Given the description of an element on the screen output the (x, y) to click on. 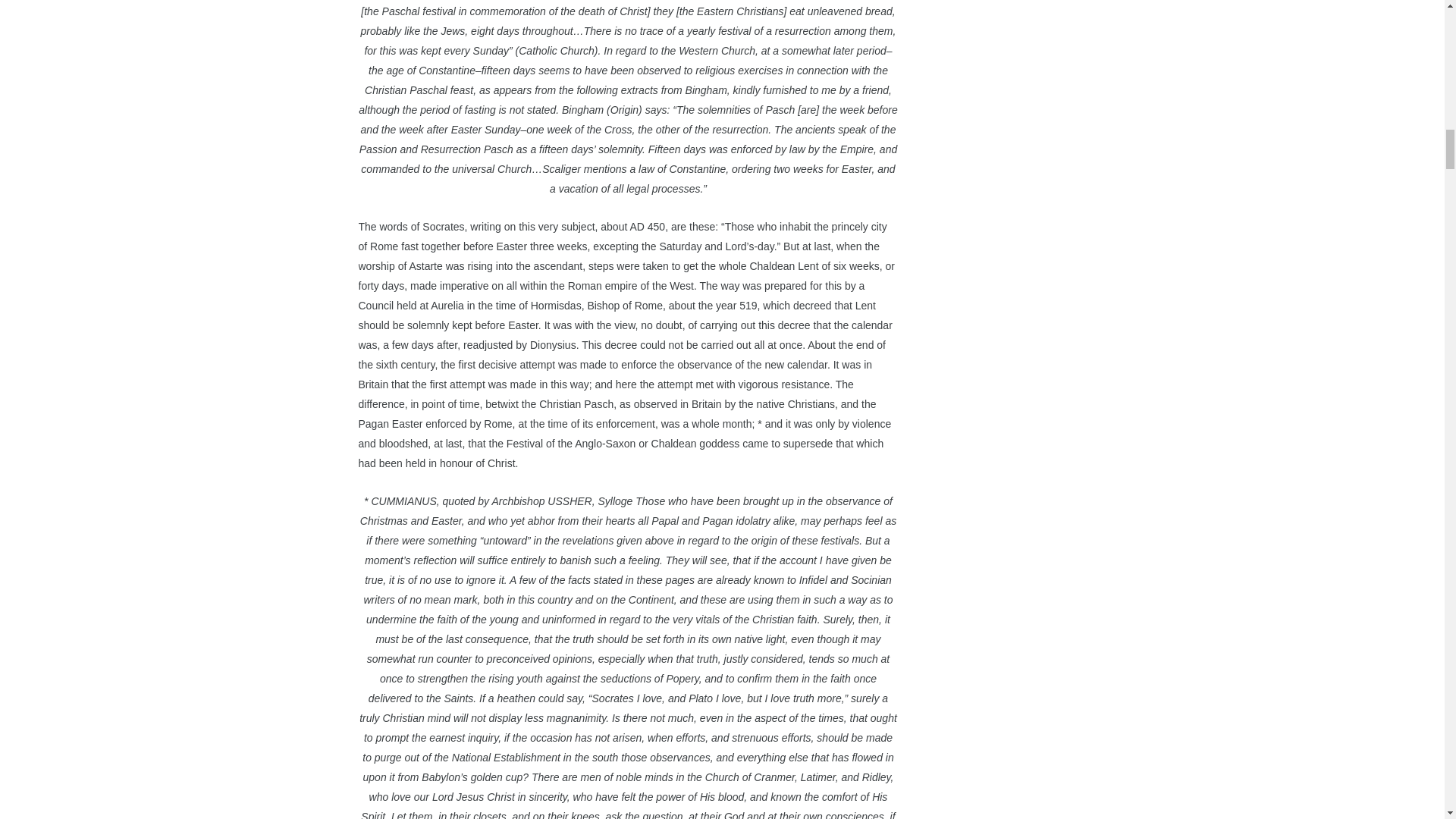
Page 94 (628, 99)
